Given the description of an element on the screen output the (x, y) to click on. 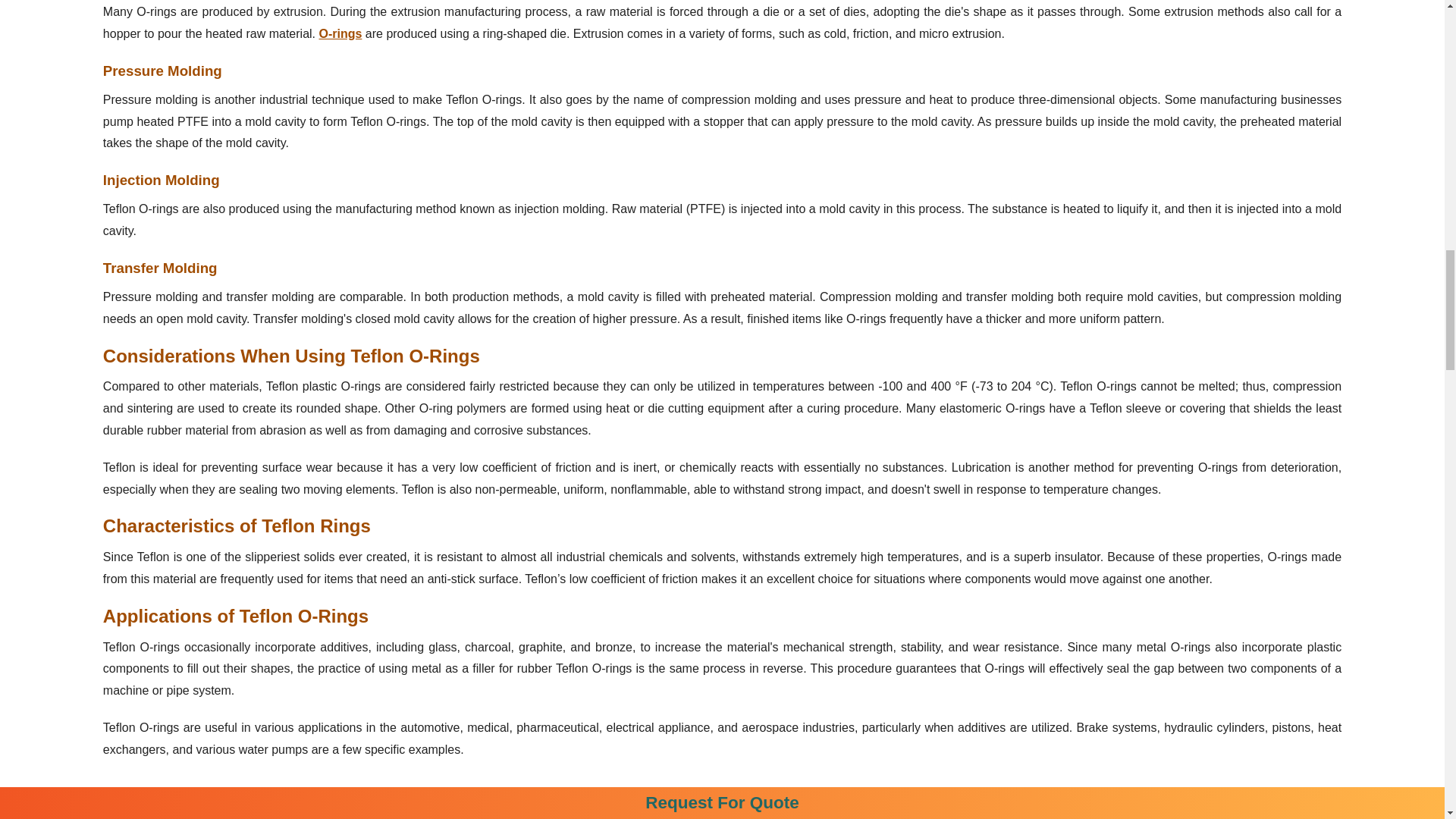
Teflon Ring For Pistons (722, 797)
Research O-Ring Suppliers (339, 33)
